Given the description of an element on the screen output the (x, y) to click on. 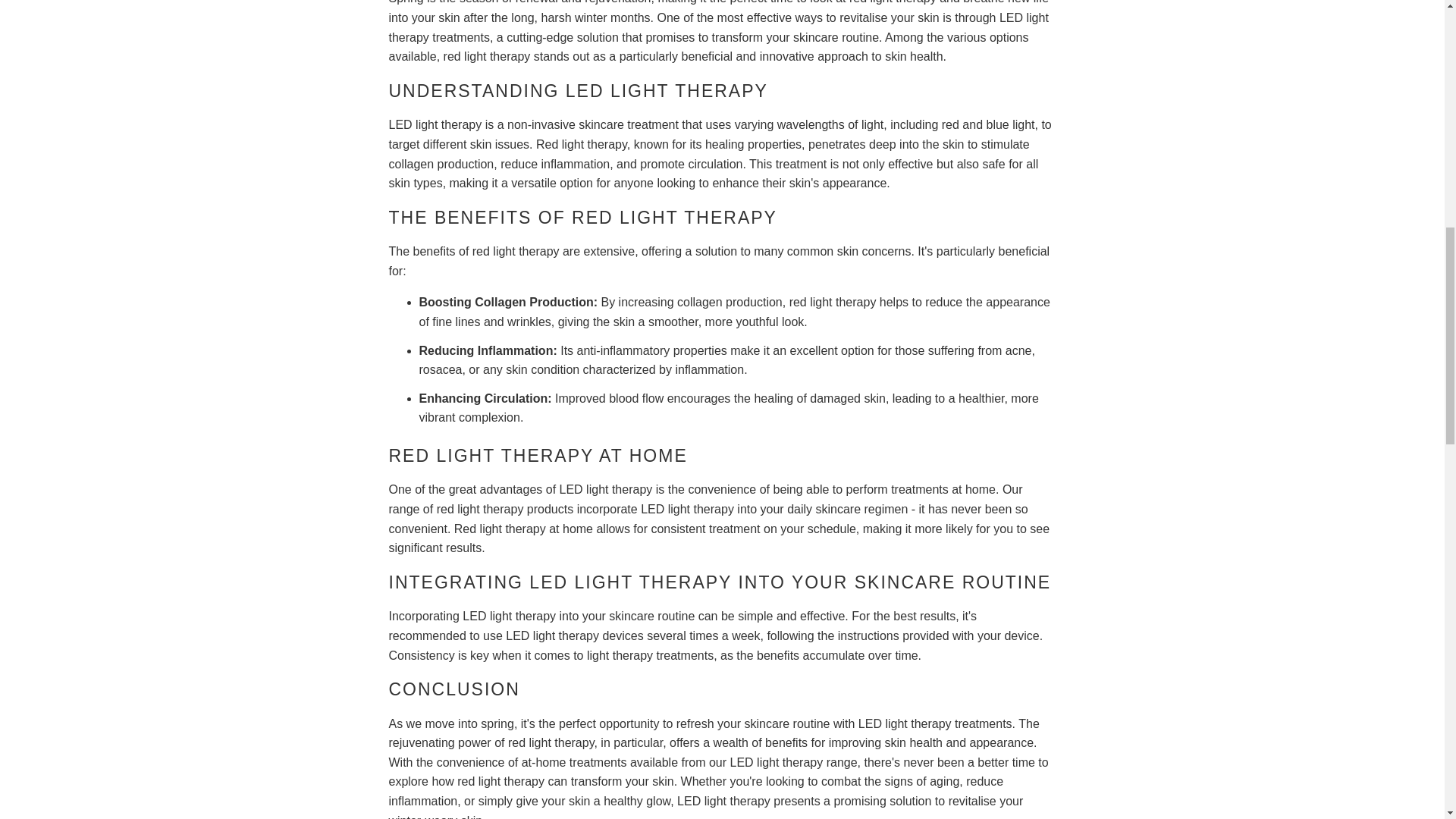
red light therapy (480, 508)
Red LED Light Therapy (674, 217)
red light therapy (892, 2)
